Given the description of an element on the screen output the (x, y) to click on. 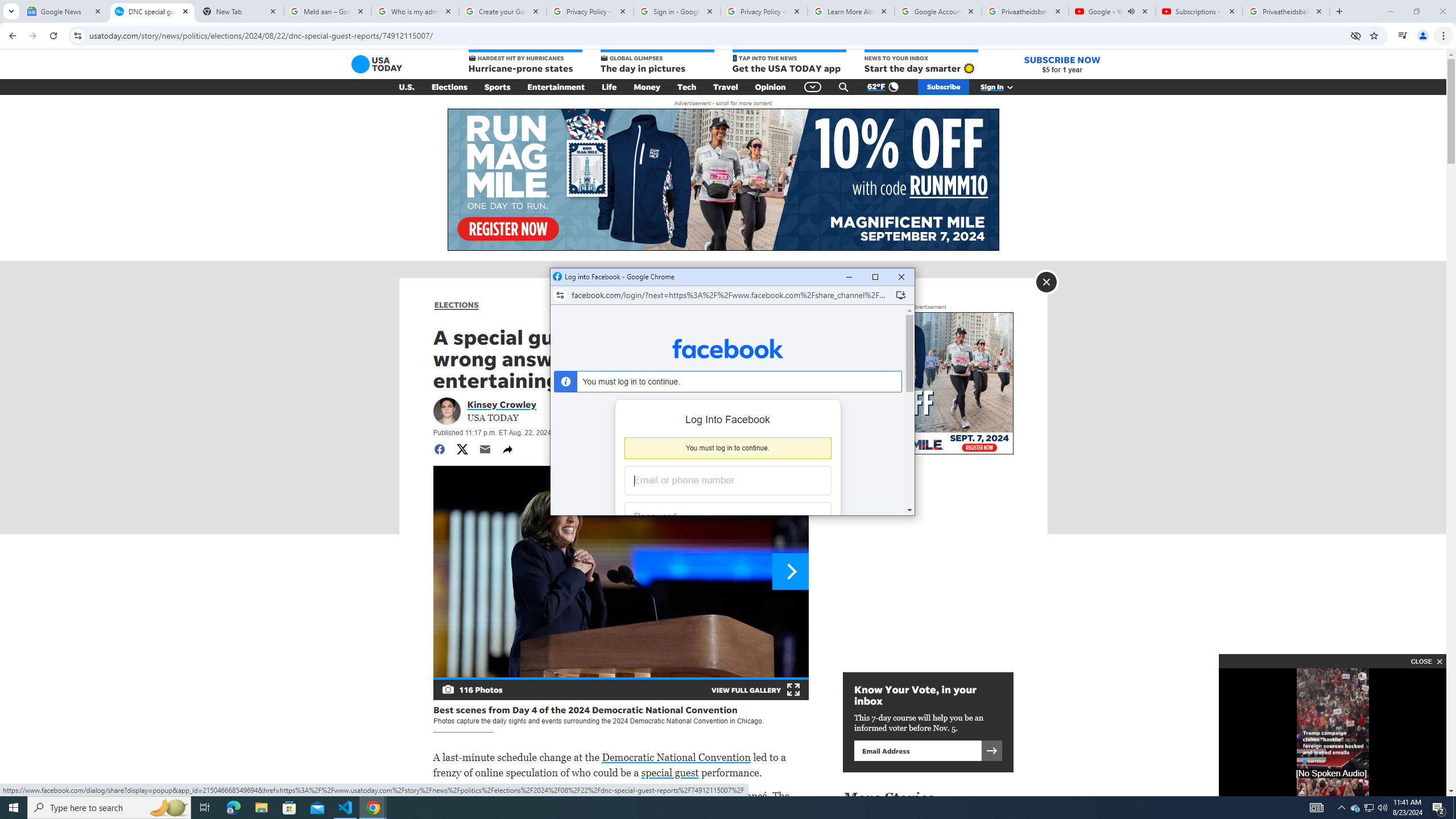
Subscribe (943, 87)
New Tab (239, 11)
Travel (725, 87)
Action Center, 2 new notifications (1439, 807)
Life (609, 87)
Running applications (717, 807)
Maximize (874, 276)
U.S. (406, 87)
Email or phone number (727, 481)
Portrait of Kinsey Crowley Kinsey Crowley (502, 404)
Password (719, 517)
